Given the description of an element on the screen output the (x, y) to click on. 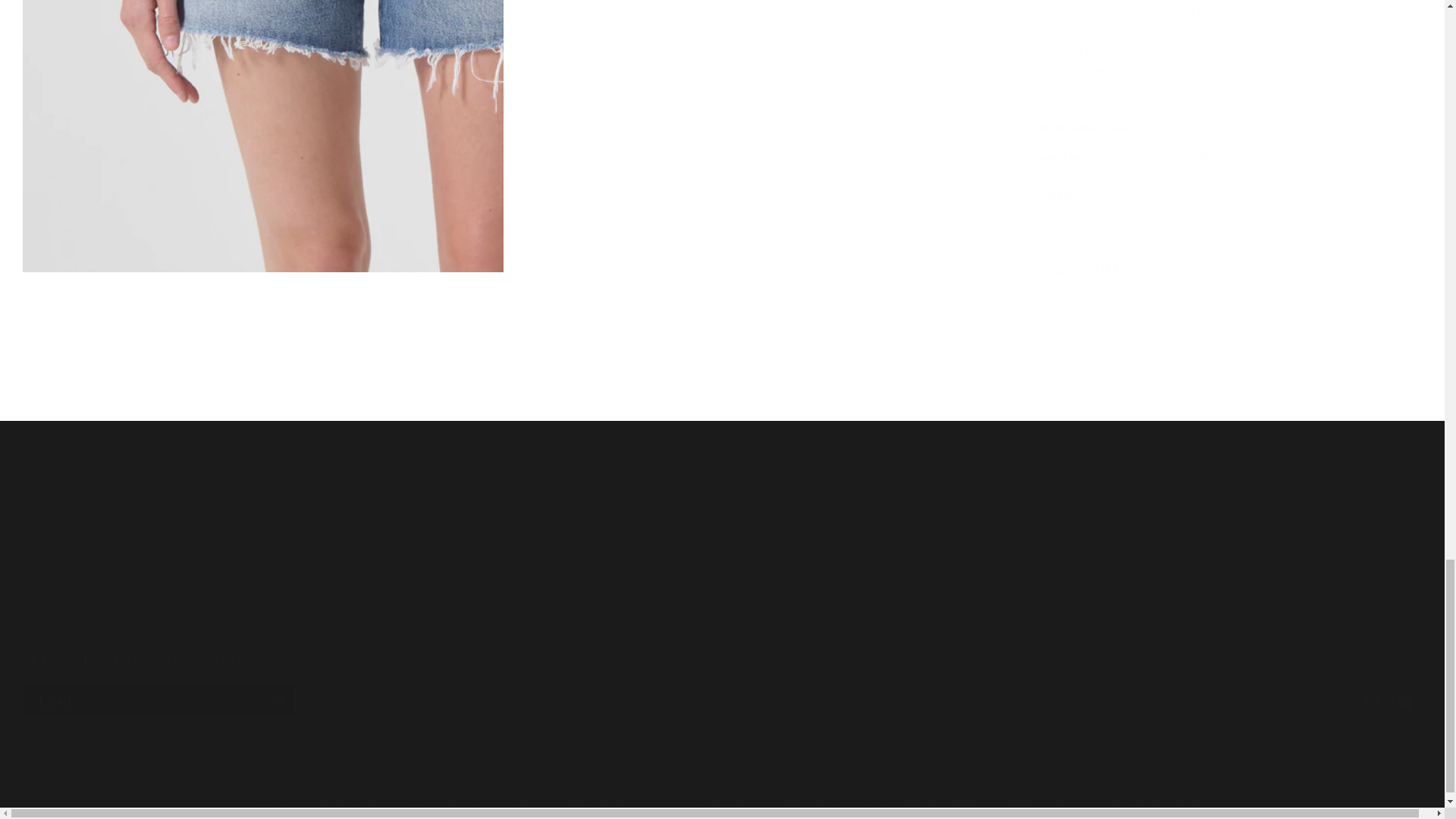
Open media 5 in modal (263, 128)
